Given the description of an element on the screen output the (x, y) to click on. 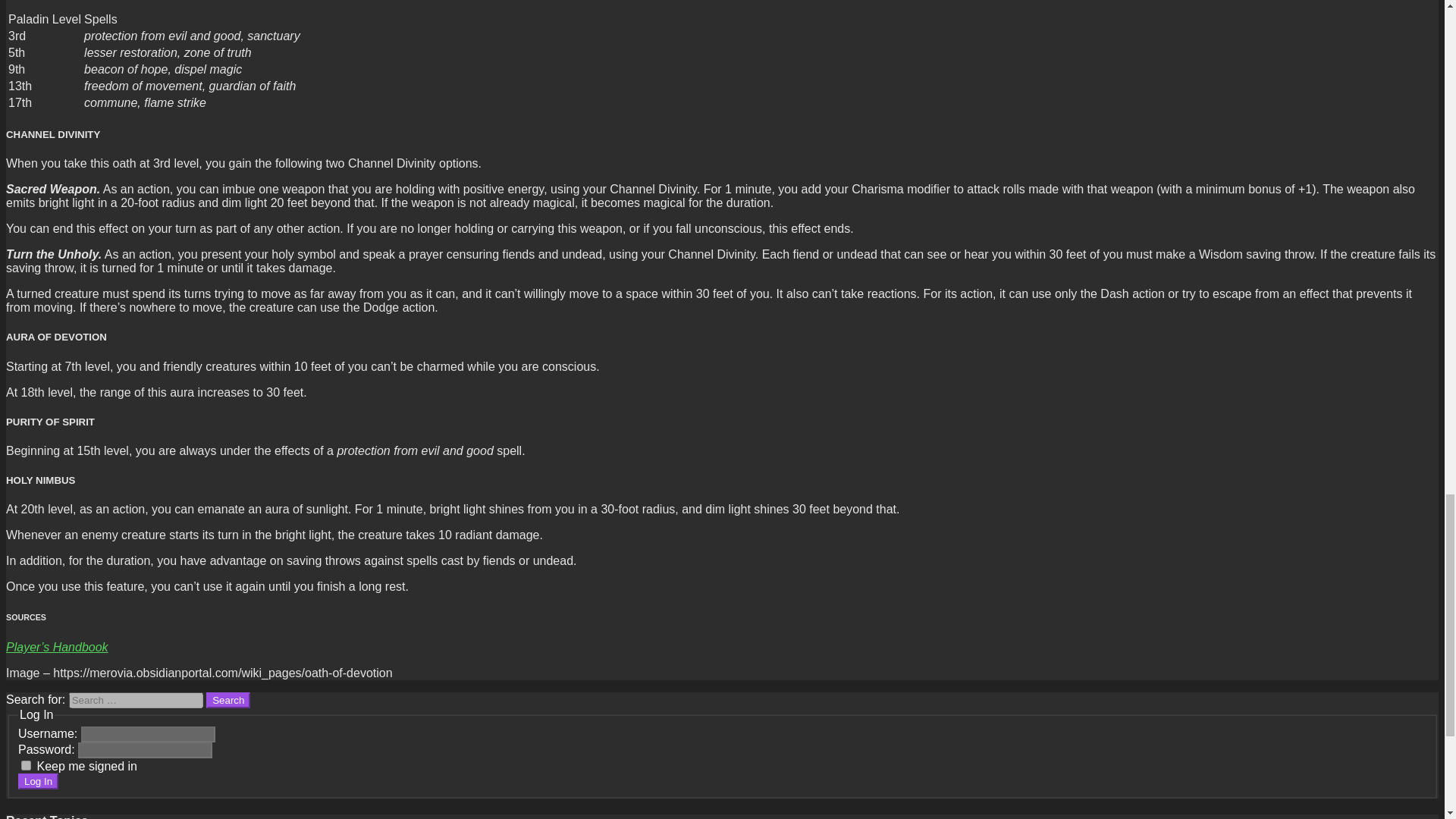
Search (228, 700)
forever (25, 765)
Search (228, 700)
